Given the description of an element on the screen output the (x, y) to click on. 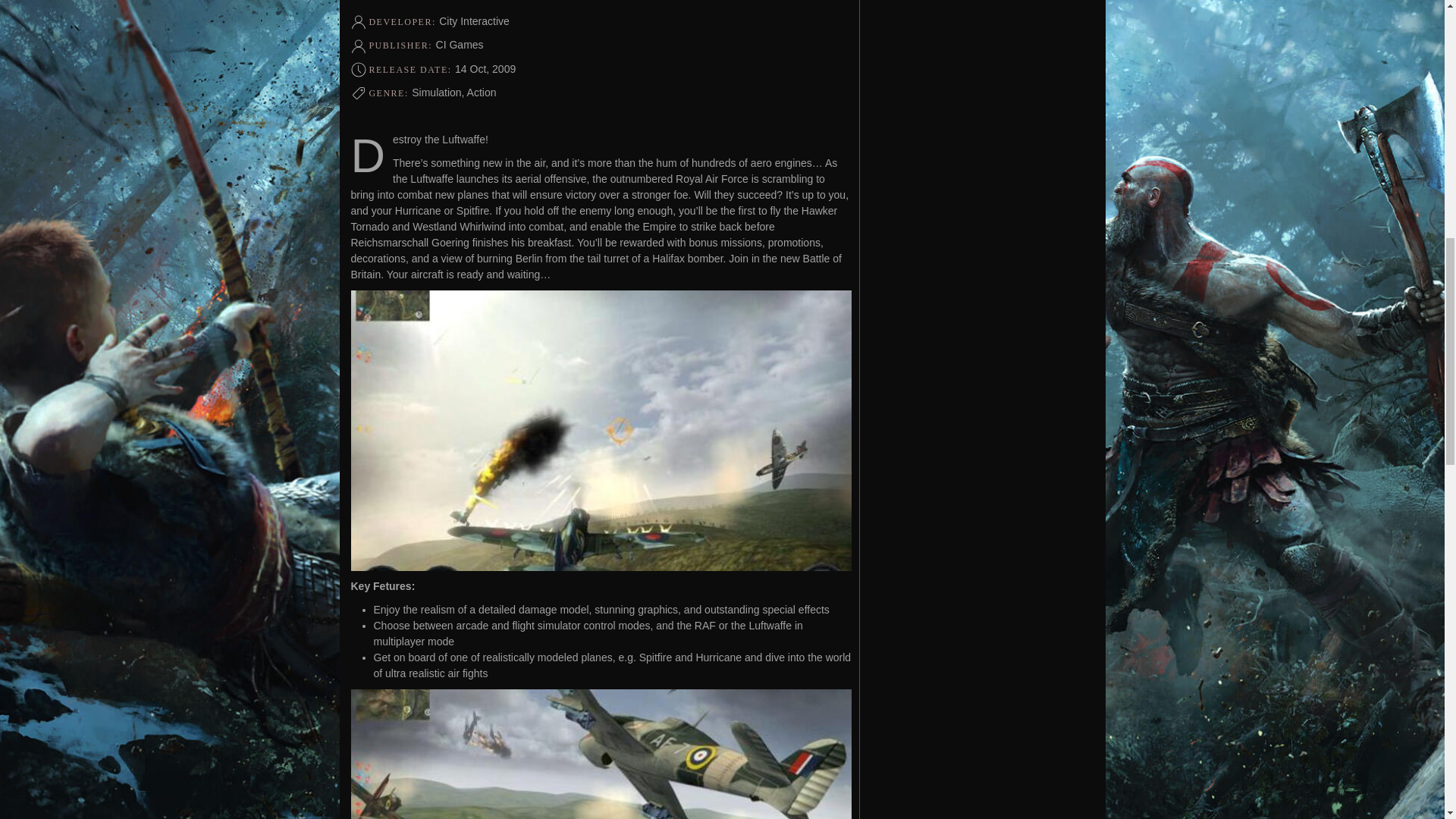
Combat Wings: Battle of Britain PC Crack (600, 754)
